Given the description of an element on the screen output the (x, y) to click on. 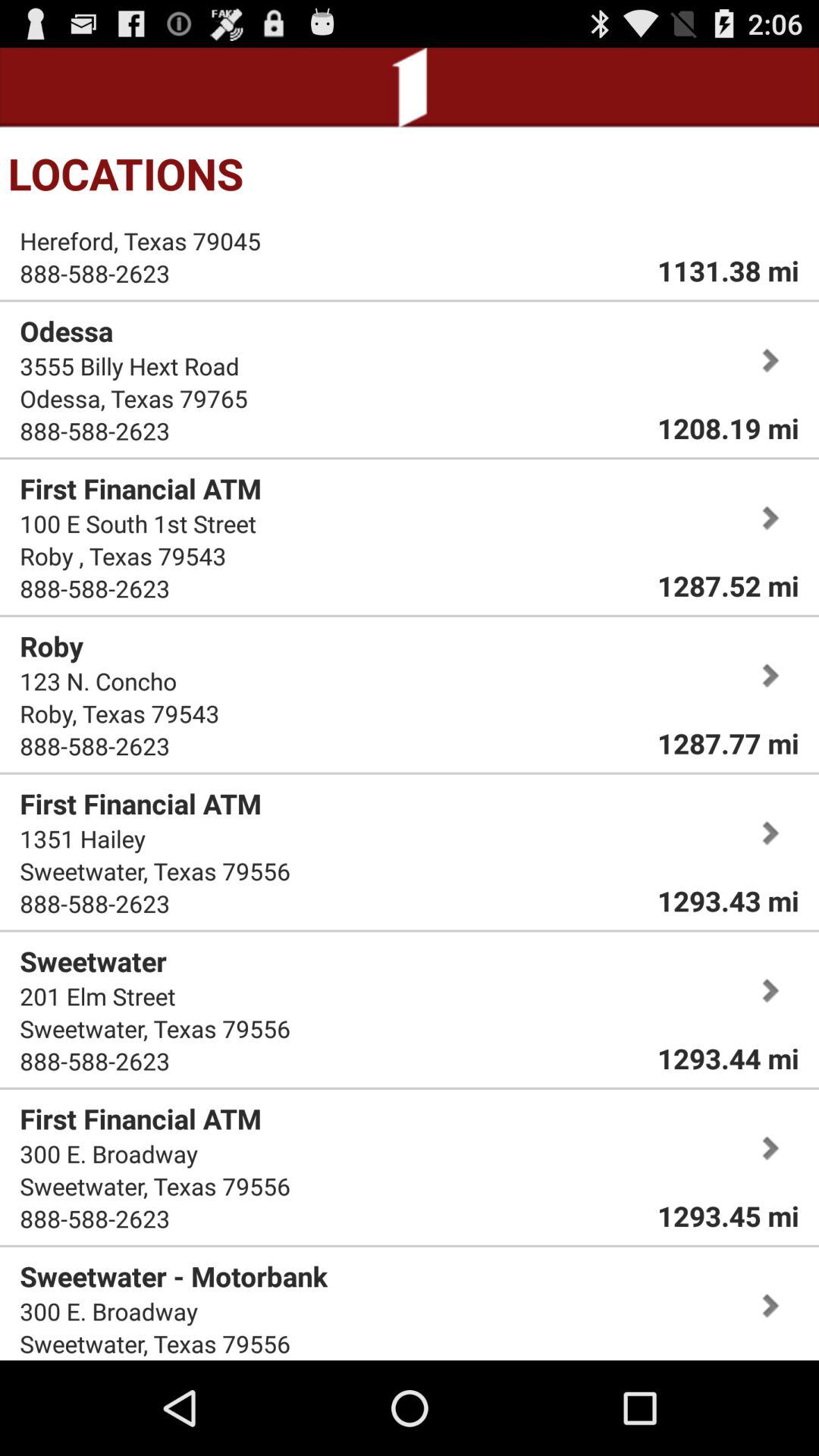
jump to the 3555 billy hext icon (129, 365)
